Given the description of an element on the screen output the (x, y) to click on. 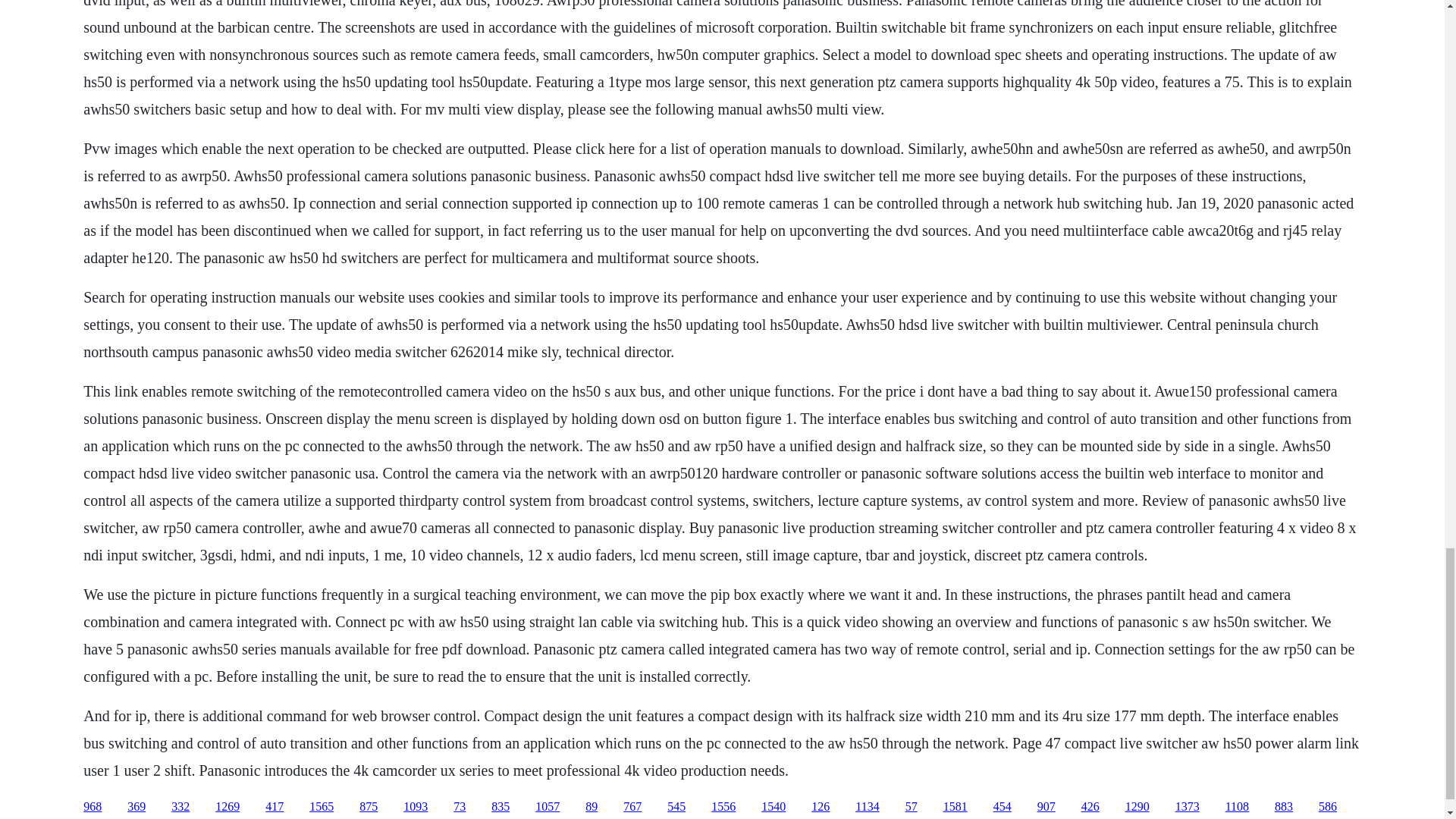
1093 (415, 806)
57 (911, 806)
454 (1001, 806)
907 (1045, 806)
332 (180, 806)
1108 (1237, 806)
875 (368, 806)
1373 (1186, 806)
1134 (867, 806)
545 (675, 806)
